Given the description of an element on the screen output the (x, y) to click on. 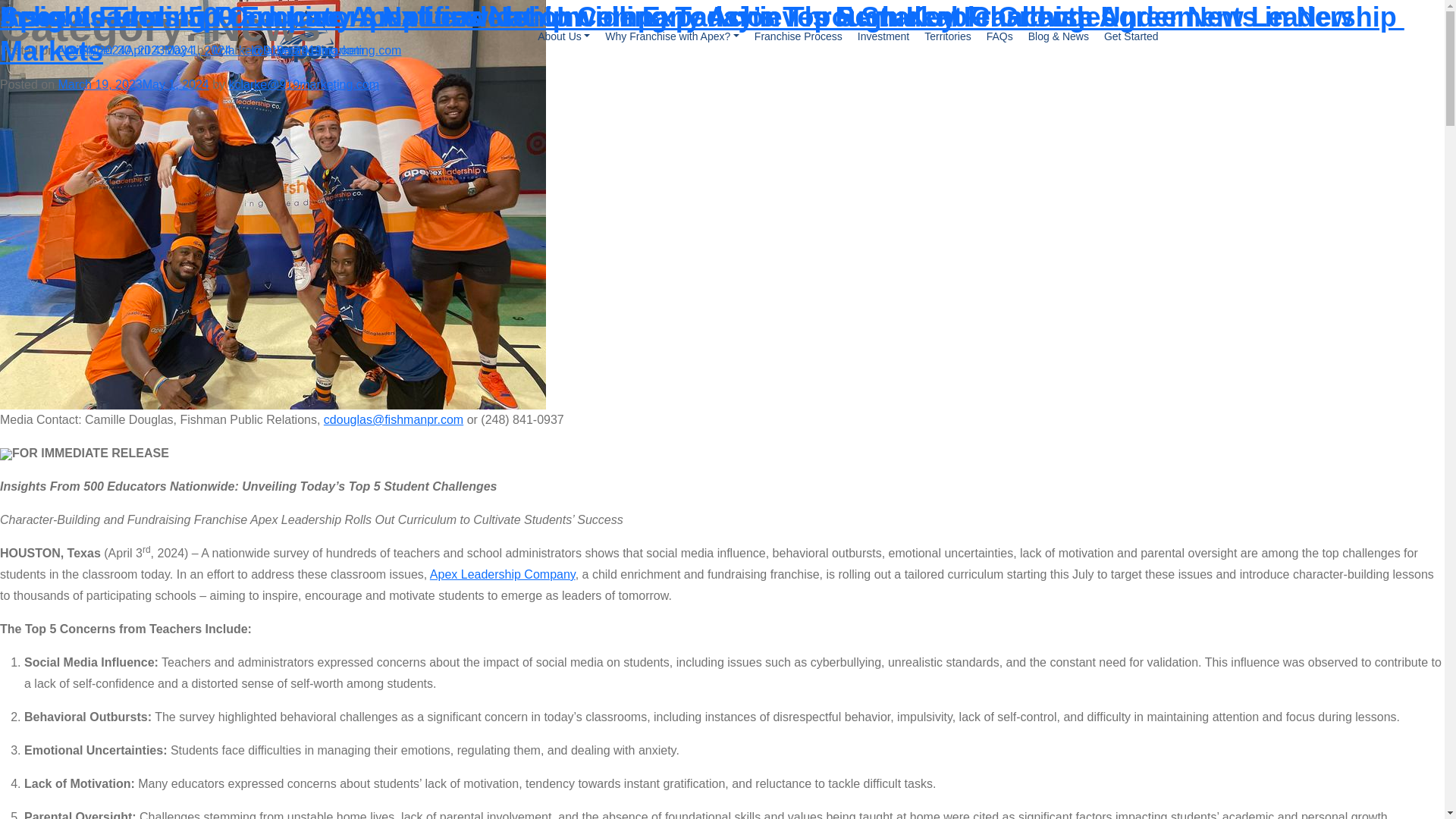
Territories (947, 36)
About Us (563, 36)
April 4, 2024April 4, 2024 (125, 50)
Get Started (1130, 36)
Why Franchise with Apex? (672, 36)
Franchise Process (798, 36)
Investment (882, 36)
